Given the description of an element on the screen output the (x, y) to click on. 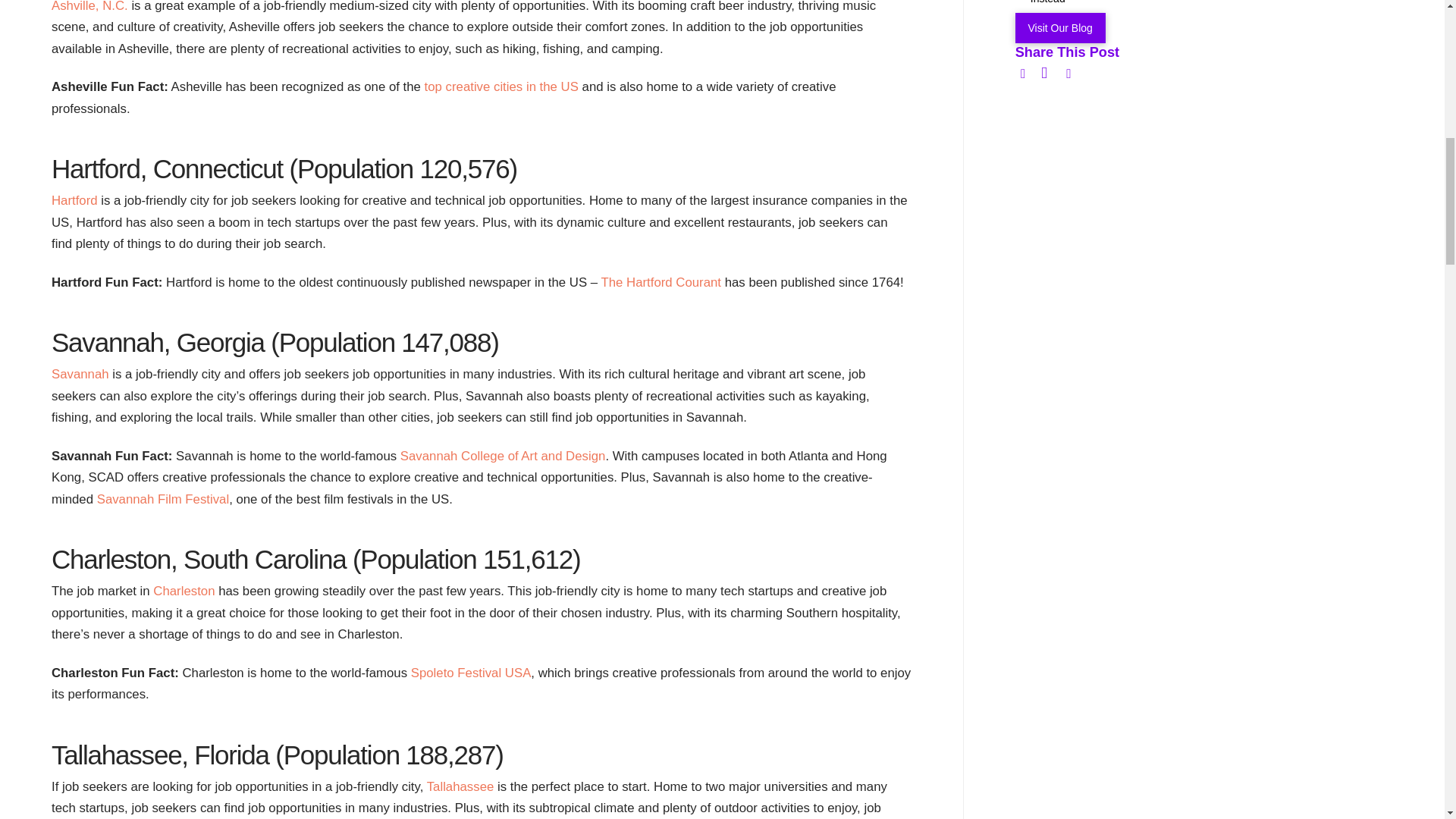
Spoleto Festival USA (470, 672)
Savannah Film Festival (162, 499)
Charleston (183, 590)
Savannah College of Art and Design (502, 455)
Hartford (73, 200)
top creative cities in the US (501, 86)
Savannah (79, 373)
The Hartford Courant (659, 282)
Tallahassee (460, 786)
Ashville, N.C. (89, 6)
